Given the description of an element on the screen output the (x, y) to click on. 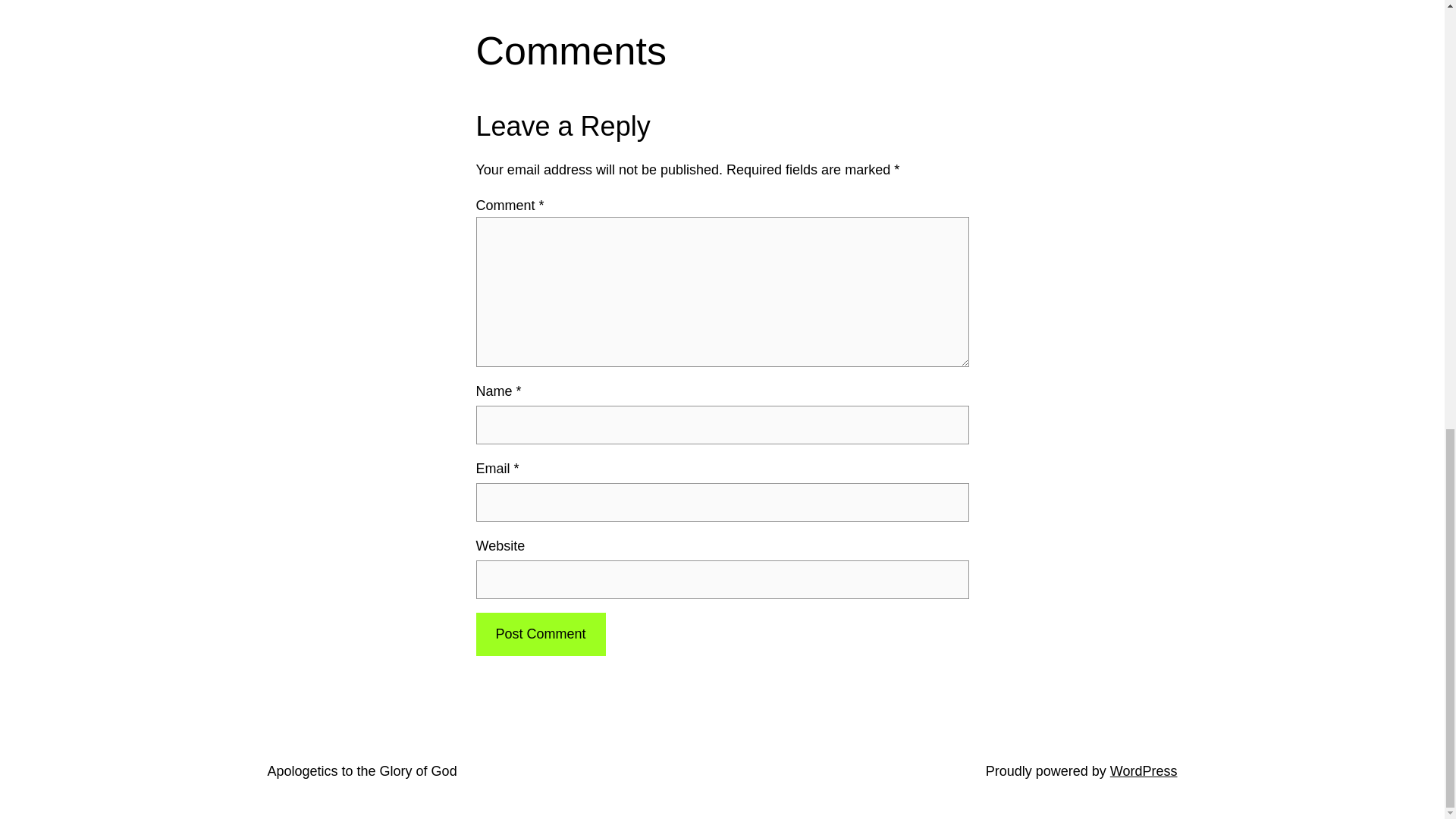
Post Comment (540, 634)
